Given the description of an element on the screen output the (x, y) to click on. 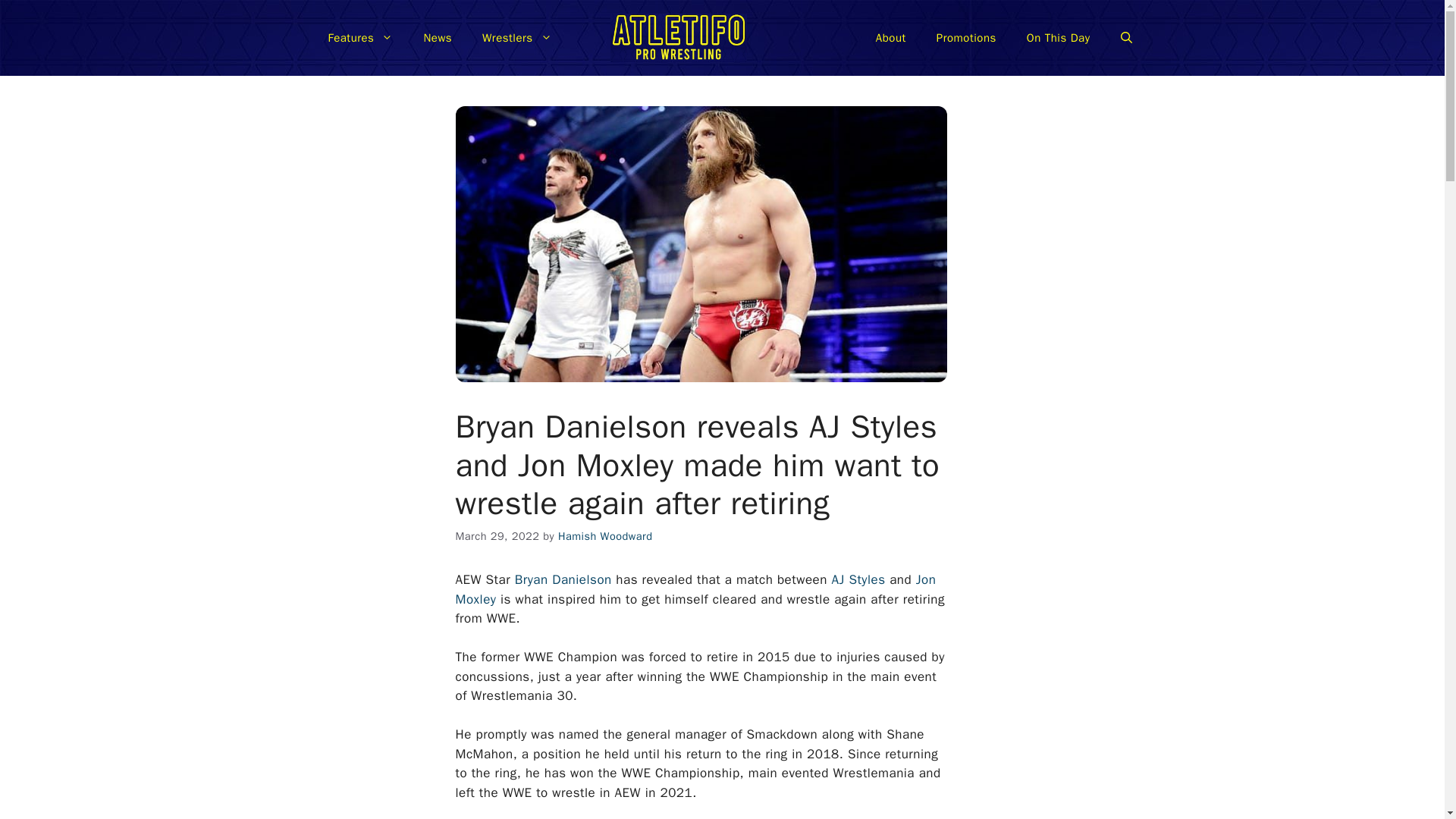
AJ Styles (858, 579)
About (890, 37)
View all posts by Hamish Woodward (604, 535)
On This Day (1058, 37)
Wrestlers (517, 37)
Bryan Danielson (563, 579)
Jon Moxley (695, 589)
Promotions (966, 37)
Features (360, 37)
News (437, 37)
Hamish Woodward (604, 535)
